Given the description of an element on the screen output the (x, y) to click on. 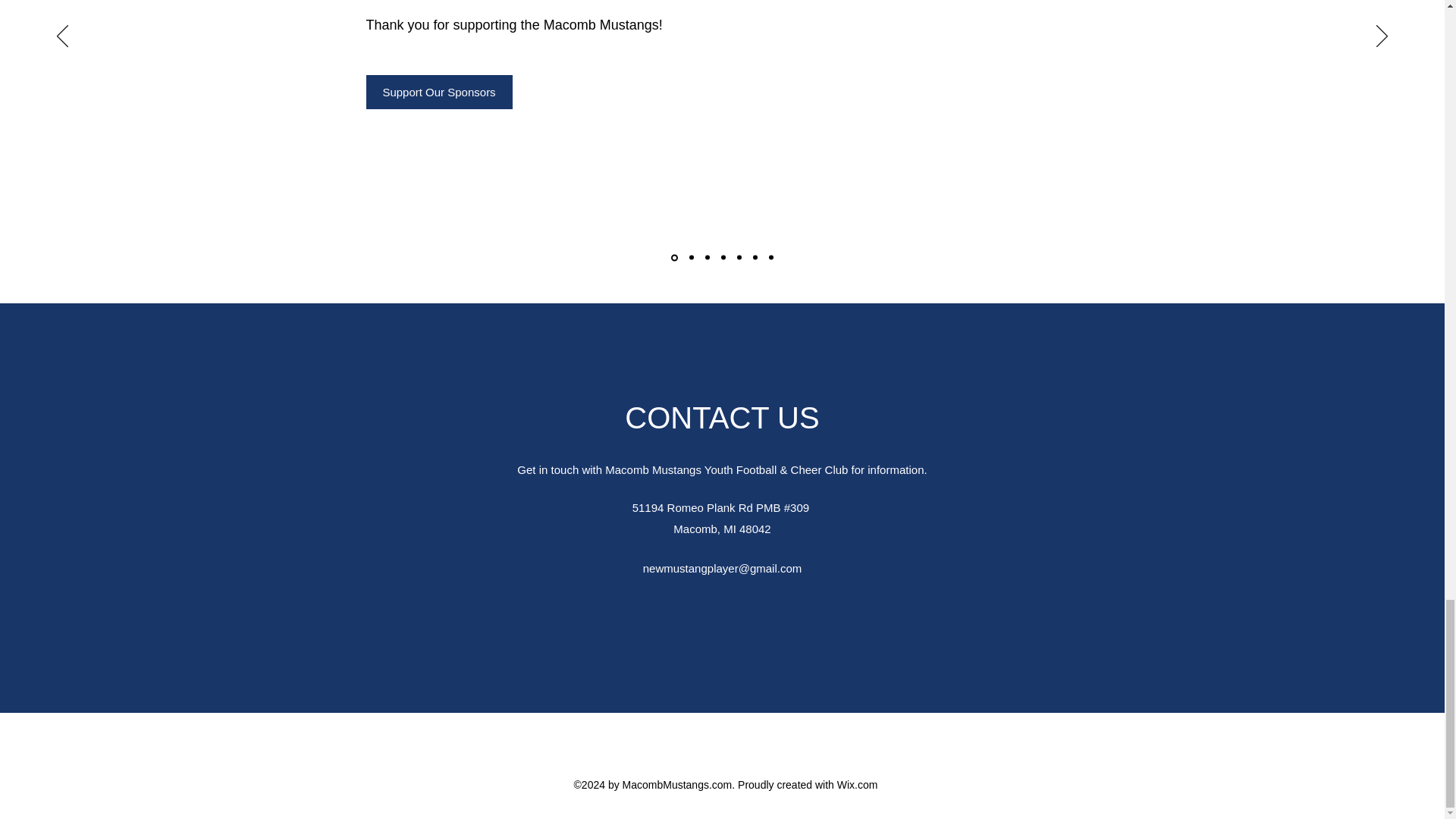
Support Our Sponsors (438, 91)
